Given the description of an element on the screen output the (x, y) to click on. 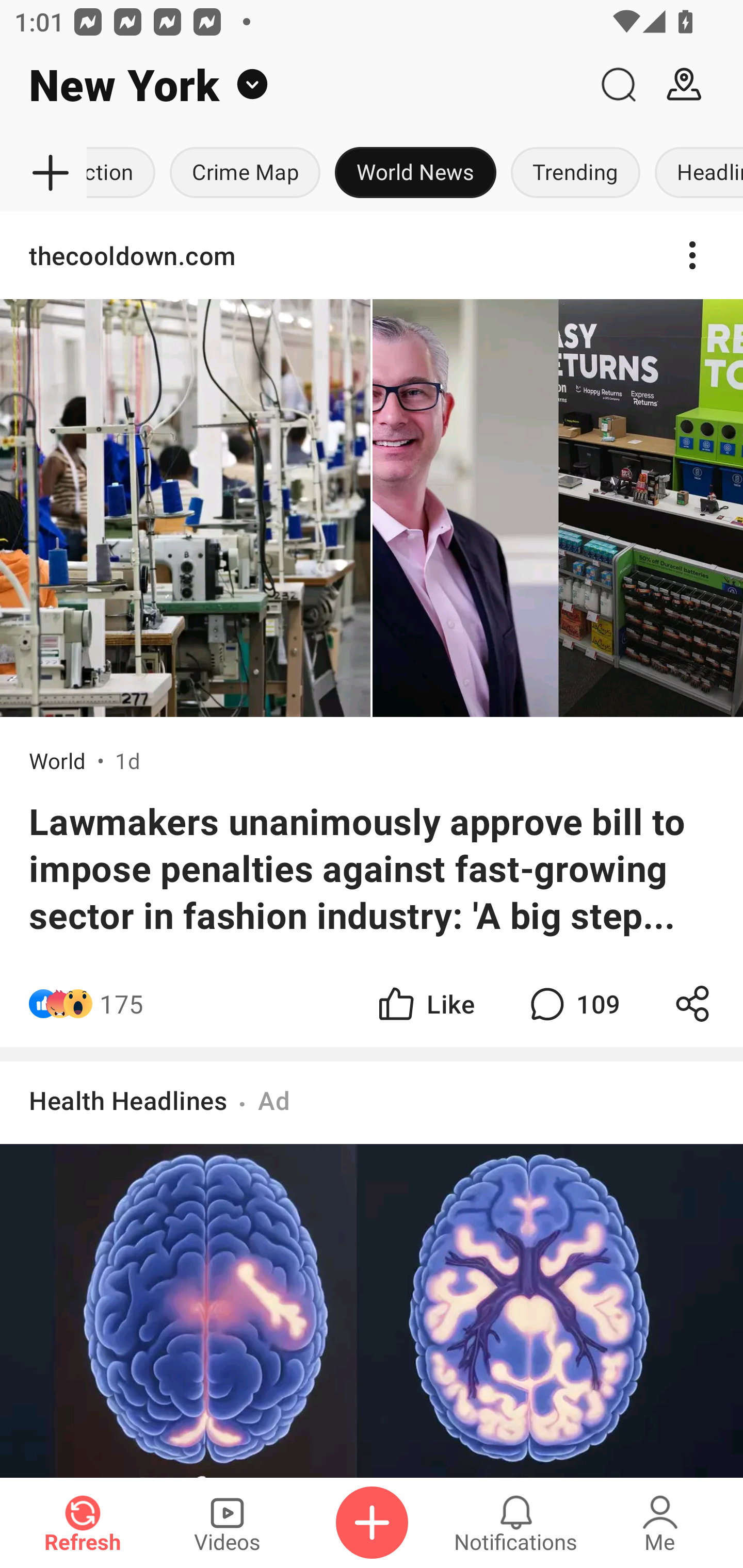
New York (292, 84)
Election (124, 172)
Crime Map (244, 172)
World News (415, 172)
Trending (575, 172)
Headlines (695, 172)
thecooldown.com (371, 255)
175 (121, 1003)
Like (425, 1003)
109 (572, 1003)
Health Headlines (127, 1099)
Videos (227, 1522)
Notifications (516, 1522)
Me (659, 1522)
